Given the description of an element on the screen output the (x, y) to click on. 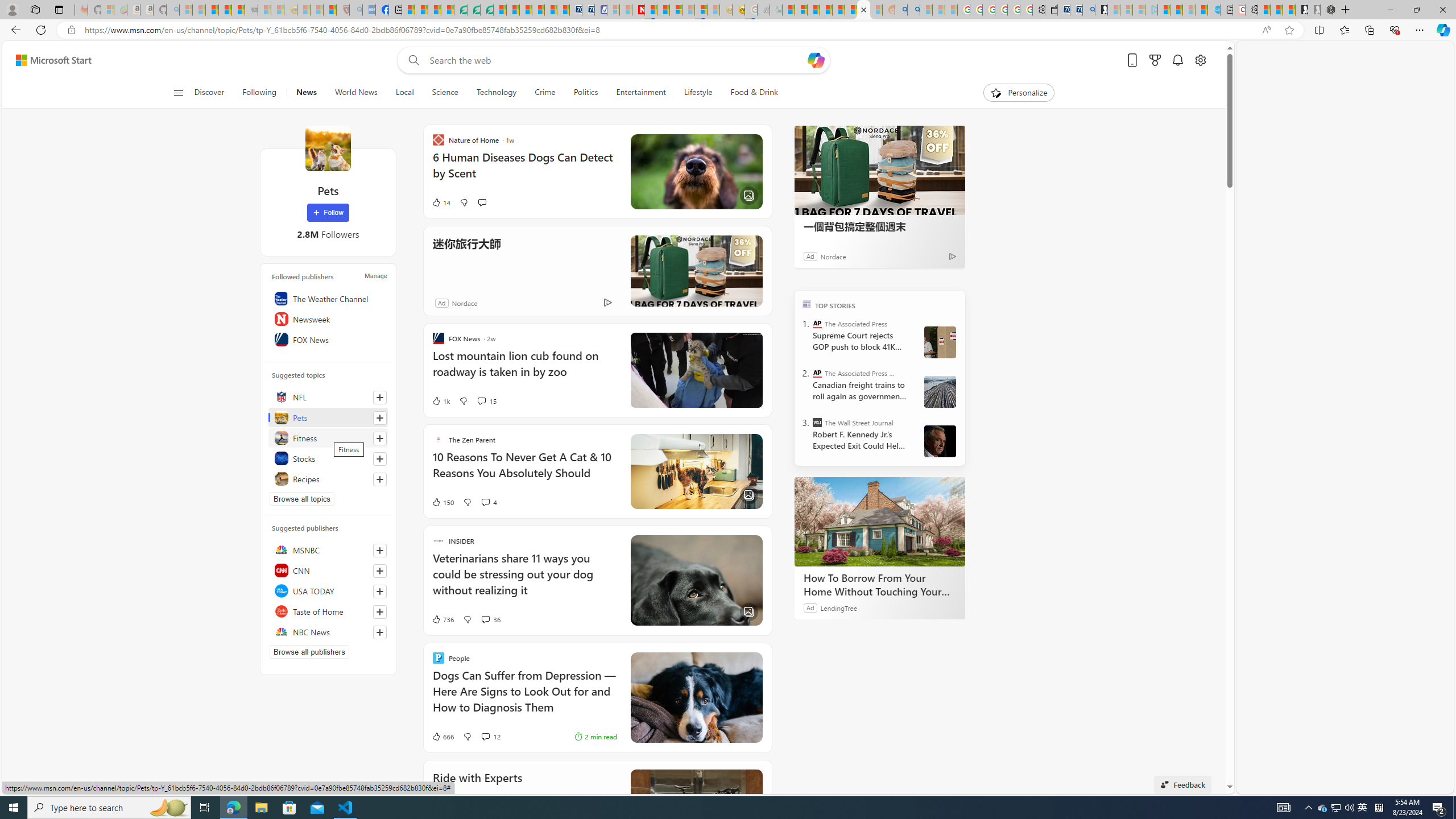
 Canada Railroads Unions (940, 391)
Ad (440, 302)
Start the conversation (482, 202)
Microsoft rewards (1154, 60)
666 Like (442, 736)
Browser essentials (1394, 29)
Read aloud this page (Ctrl+Shift+U) (1266, 29)
Discover (208, 92)
Food & Drink (753, 92)
Ad Choice (606, 302)
World News (355, 92)
